Given the description of an element on the screen output the (x, y) to click on. 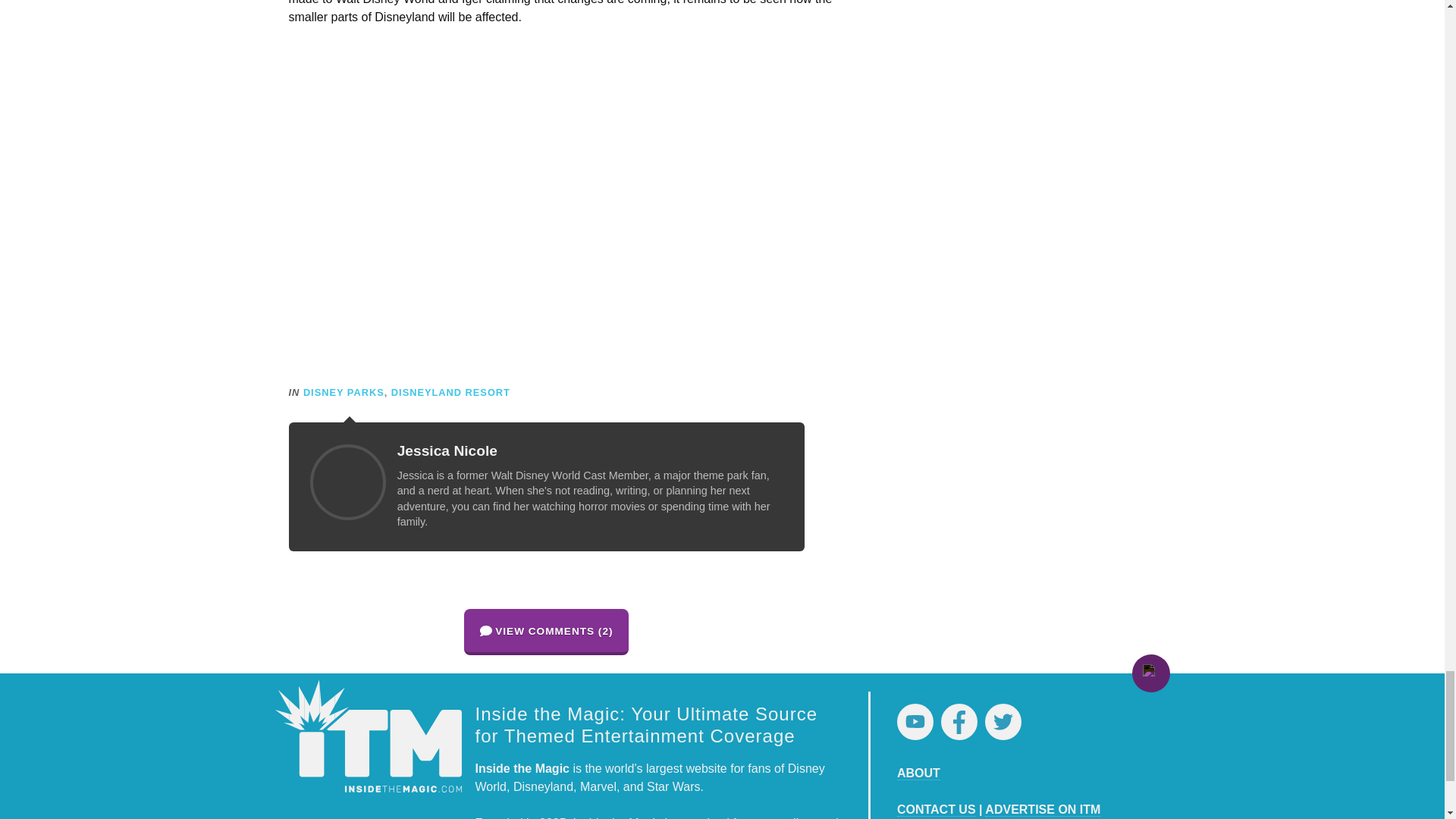
Return to Top (1150, 673)
